Given the description of an element on the screen output the (x, y) to click on. 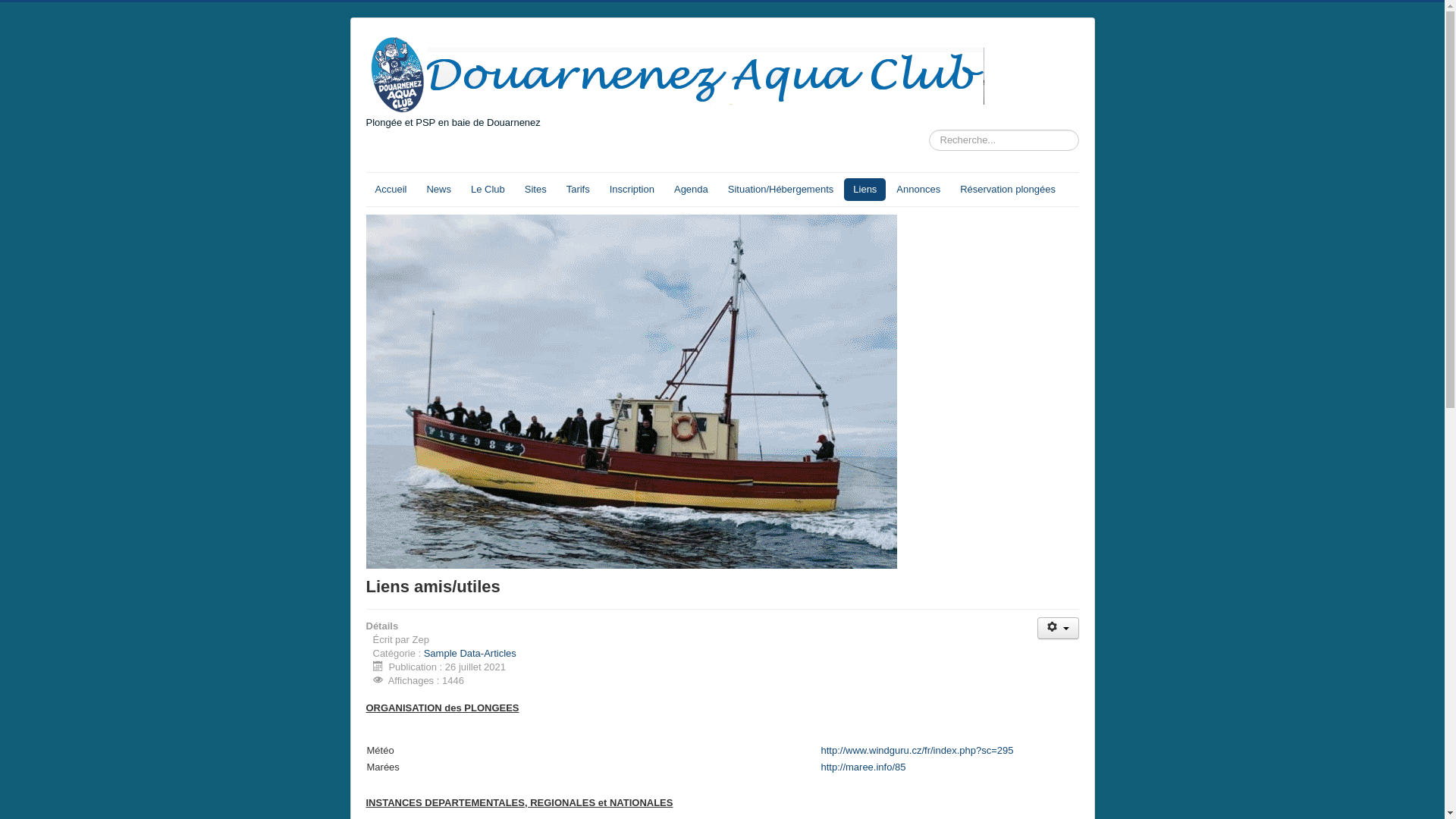
Agenda Element type: text (691, 189)
Sample Data-Articles Element type: text (469, 652)
Annonces Element type: text (918, 189)
Le Club Element type: text (487, 189)
http://www.windguru.cz/fr/index.php?sc=295 Element type: text (916, 750)
Sites Element type: text (535, 189)
Accueil Element type: text (390, 189)
News Element type: text (438, 189)
Tarifs Element type: text (578, 189)
http://maree.info/85 Element type: text (862, 766)
Liens Element type: text (864, 189)
Inscription Element type: text (631, 189)
